Given the description of an element on the screen output the (x, y) to click on. 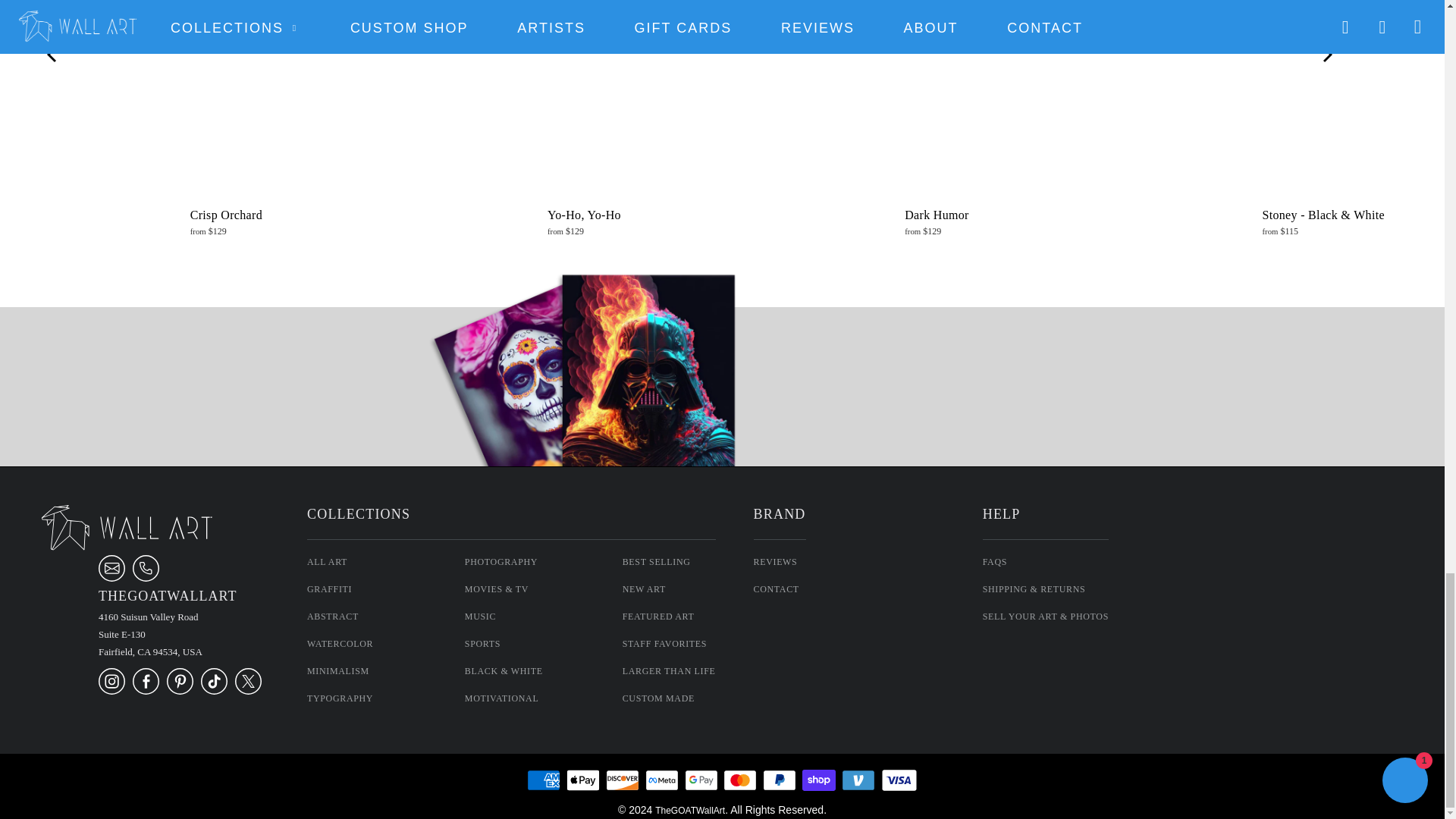
TheGOATWallArt on Pinterest (180, 691)
All Art (327, 561)
TheGOATWallArt on Facebook (145, 691)
TheGOATWallArt on X (248, 691)
Photography (500, 561)
Call TheGOATWallArt (145, 578)
TheGOATWallArt on TikTok (213, 691)
Best Selling (656, 561)
TheGOATWallArt on Instagram (112, 691)
Email TheGOATWallArt (112, 578)
